Given the description of an element on the screen output the (x, y) to click on. 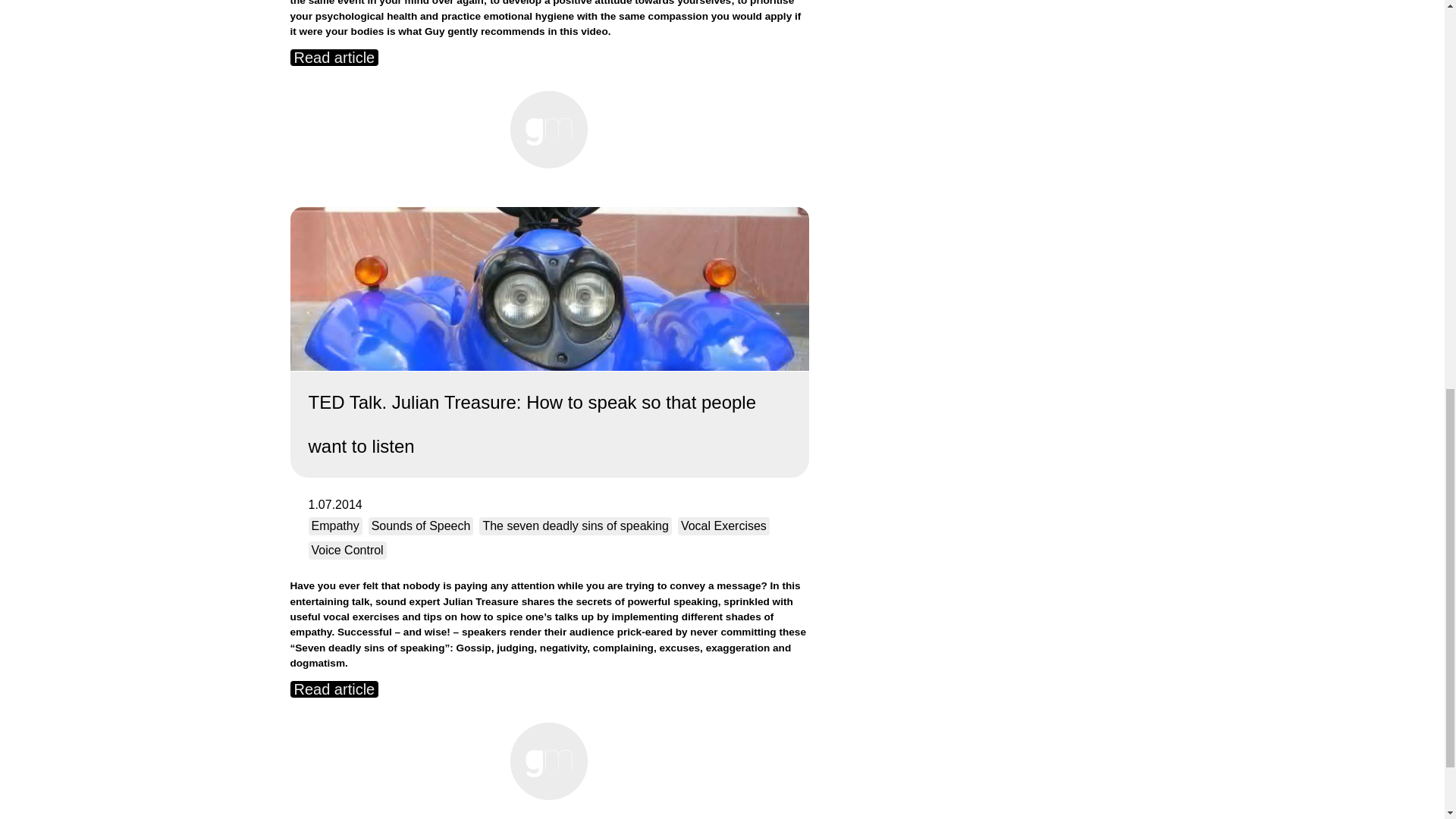
Empathy (334, 525)
Voice Control (346, 550)
Sounds of Speech (421, 525)
The seven deadly sins of speaking (575, 525)
Read article (333, 57)
Read article (333, 688)
Vocal Exercises (724, 525)
